Given the description of an element on the screen output the (x, y) to click on. 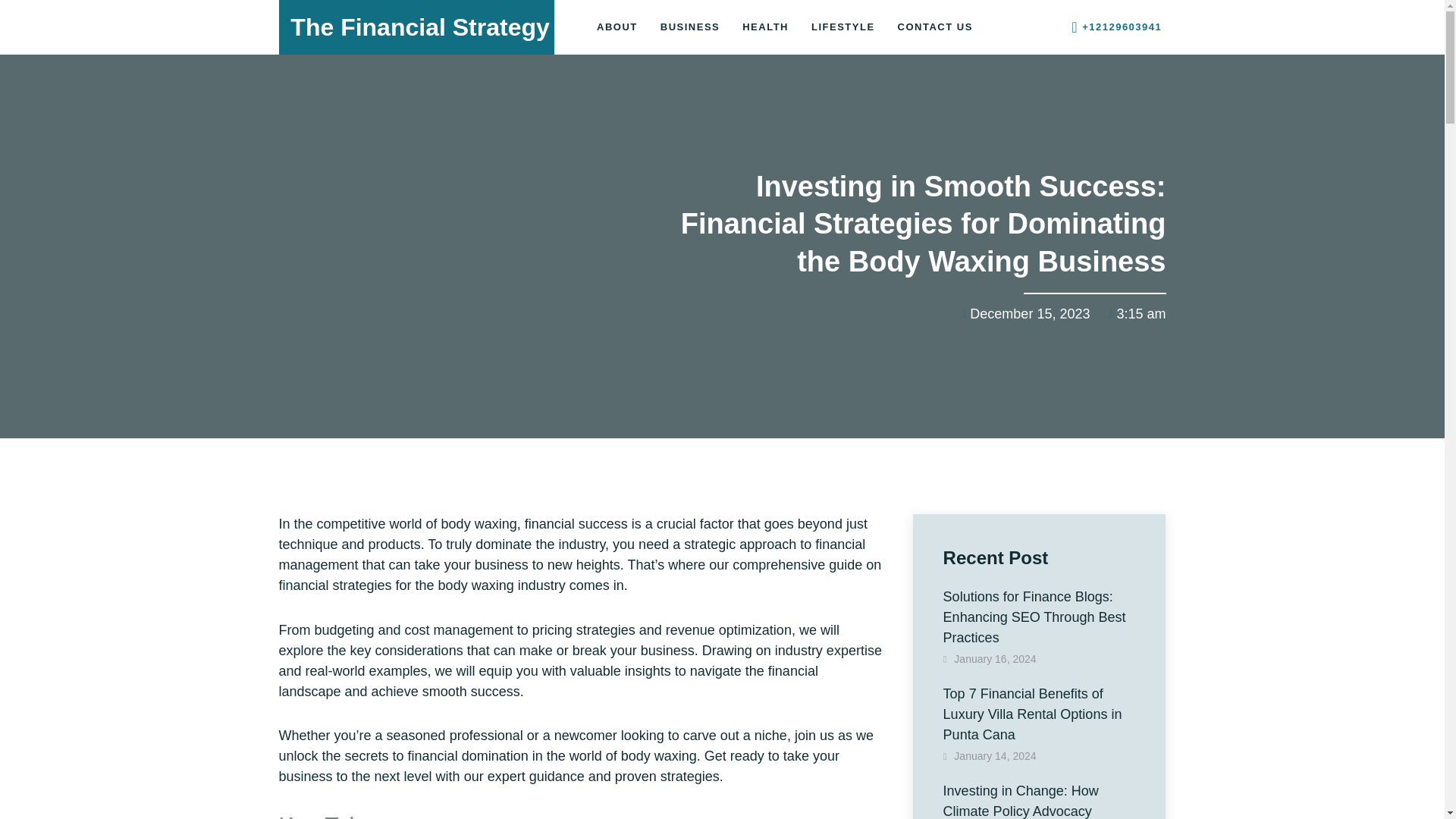
LIFESTYLE (842, 27)
The Financial Strategy (418, 26)
BUSINESS (689, 27)
December 15, 2023 (1022, 313)
HEALTH (764, 27)
ABOUT (617, 27)
CONTACT US (935, 27)
